Given the description of an element on the screen output the (x, y) to click on. 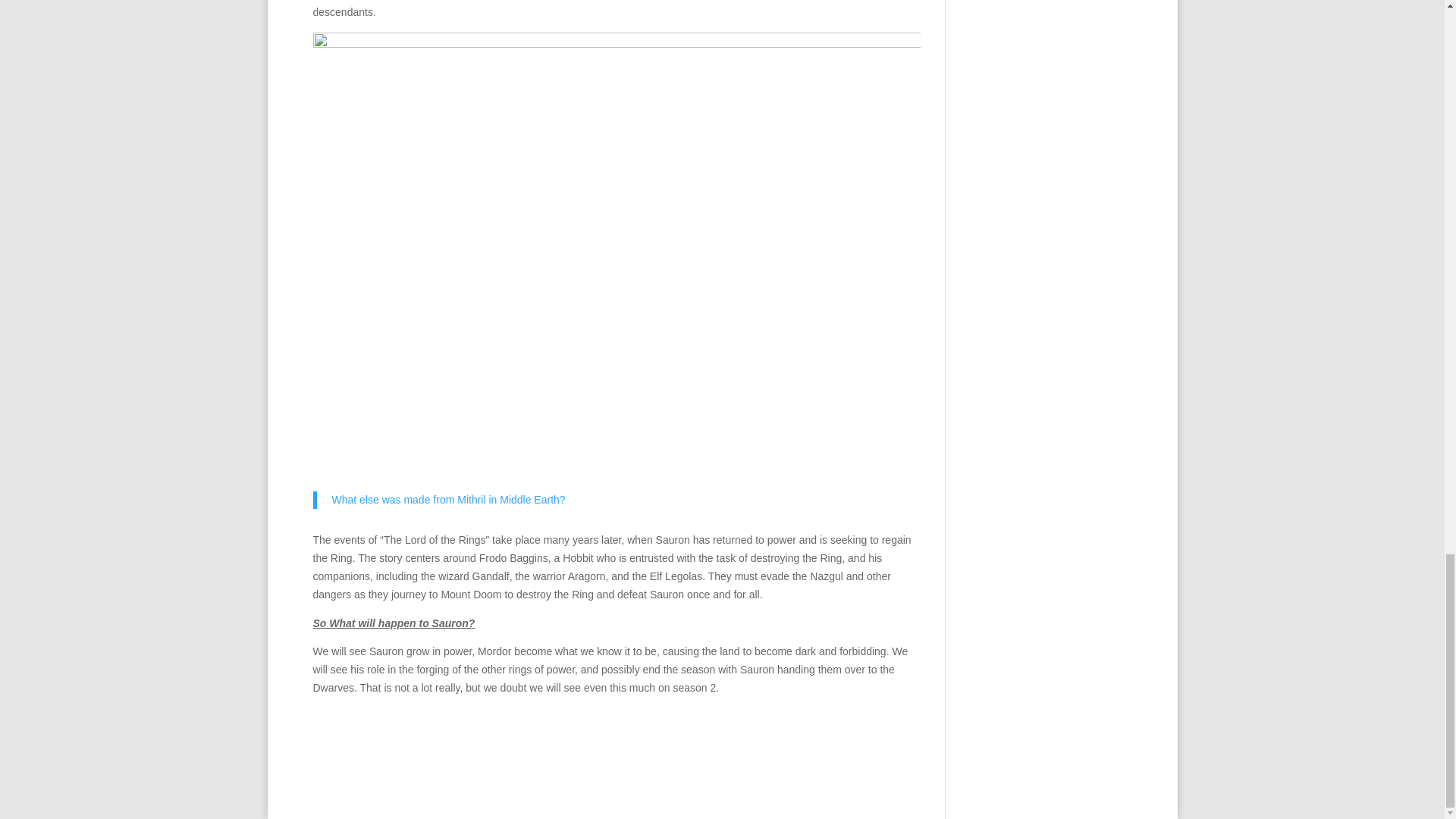
What else was made from Mithril in Middle Earth? (448, 499)
